Given the description of an element on the screen output the (x, y) to click on. 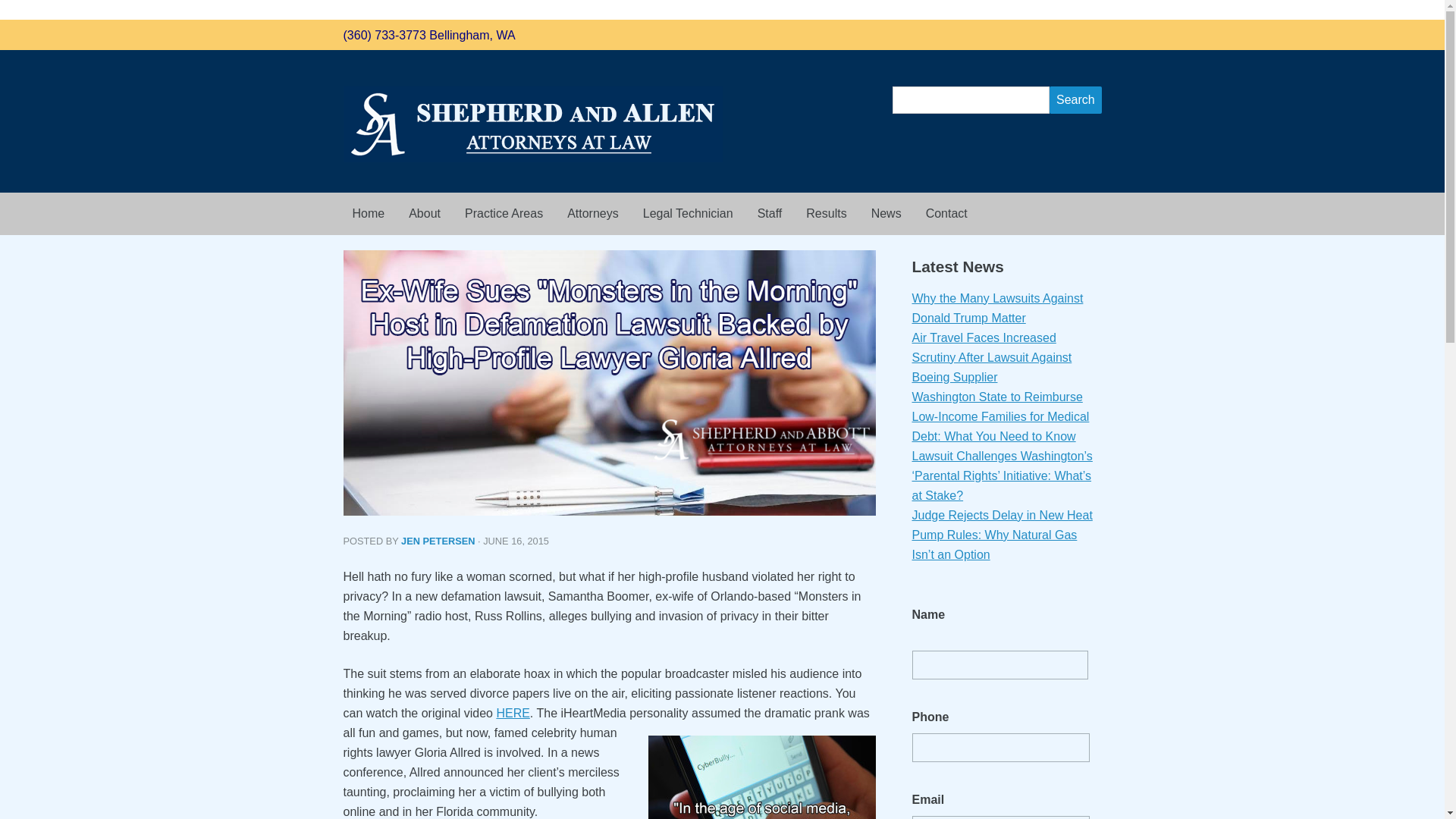
Attorneys (592, 214)
Why the Many Lawsuits Against Donald Trump Matter (997, 307)
Practice Areas (503, 214)
Legal Technician (687, 214)
Jen Petersen (437, 541)
Search (1074, 99)
News (886, 214)
Search (1074, 99)
Results (826, 214)
HERE (512, 712)
JEN PETERSEN (437, 541)
Contact (946, 214)
Home (367, 214)
